Given the description of an element on the screen output the (x, y) to click on. 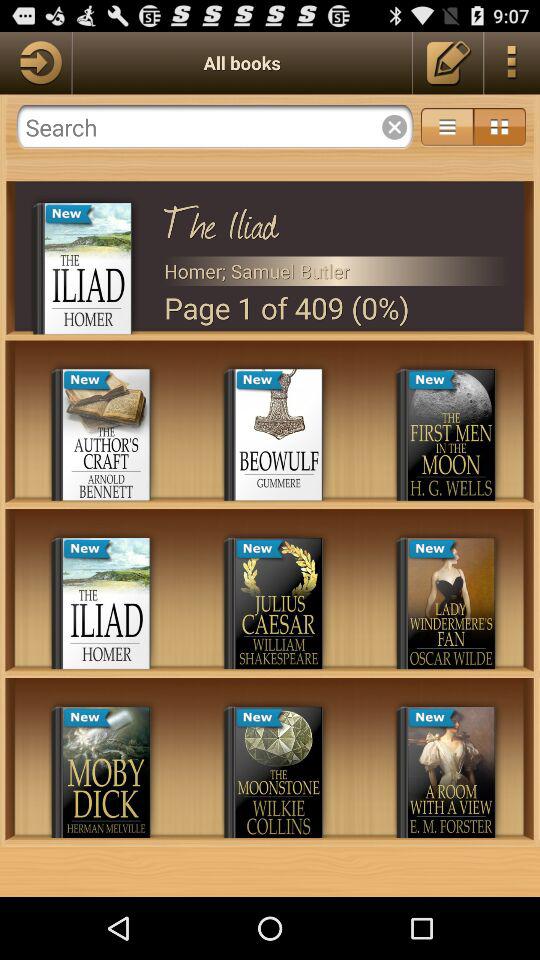
click on book named the first men in the moon (451, 434)
click on the third row second image (278, 772)
first icon in third row of the page (106, 772)
select the first text in the 2 nd row (87, 549)
click on the top of the book moby dick (87, 718)
select the middle book in the second row (278, 603)
